Given the description of an element on the screen output the (x, y) to click on. 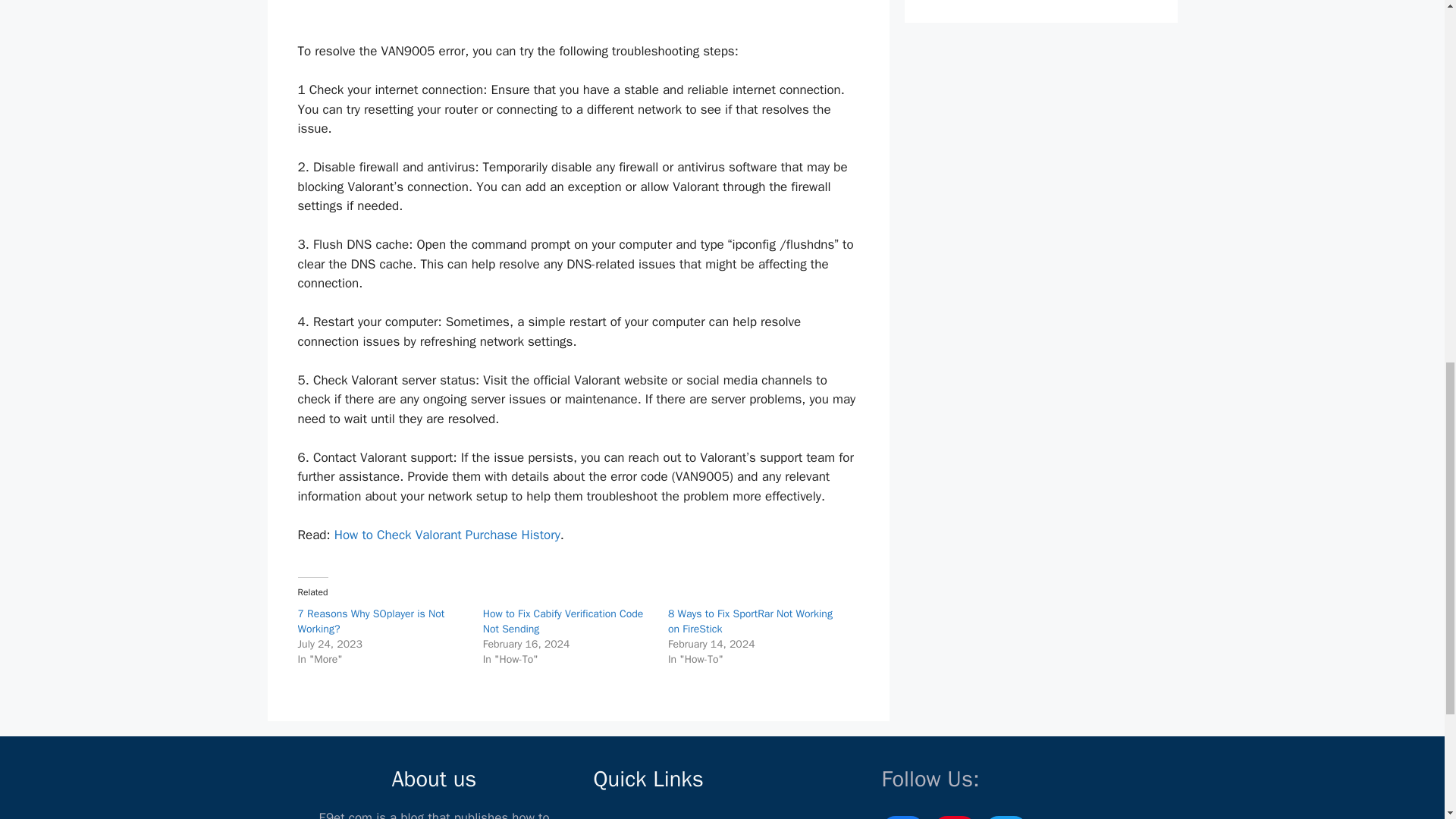
How to Check Valorant Purchase History (447, 534)
Advertisement (578, 18)
Facebook (901, 817)
Twitter (1005, 817)
8 Ways to Fix SportRar Not Working on FireStick (750, 621)
How to Fix Cabify Verification Code Not Sending (563, 621)
How to Fix Cabify Verification Code Not Sending (563, 621)
Pinterest (954, 817)
8 Ways to Fix SportRar Not Working on FireStick (750, 621)
7 Reasons Why SOplayer is Not Working? (370, 621)
About us (617, 818)
7 Reasons Why SOplayer is Not Working? (370, 621)
